Given the description of an element on the screen output the (x, y) to click on. 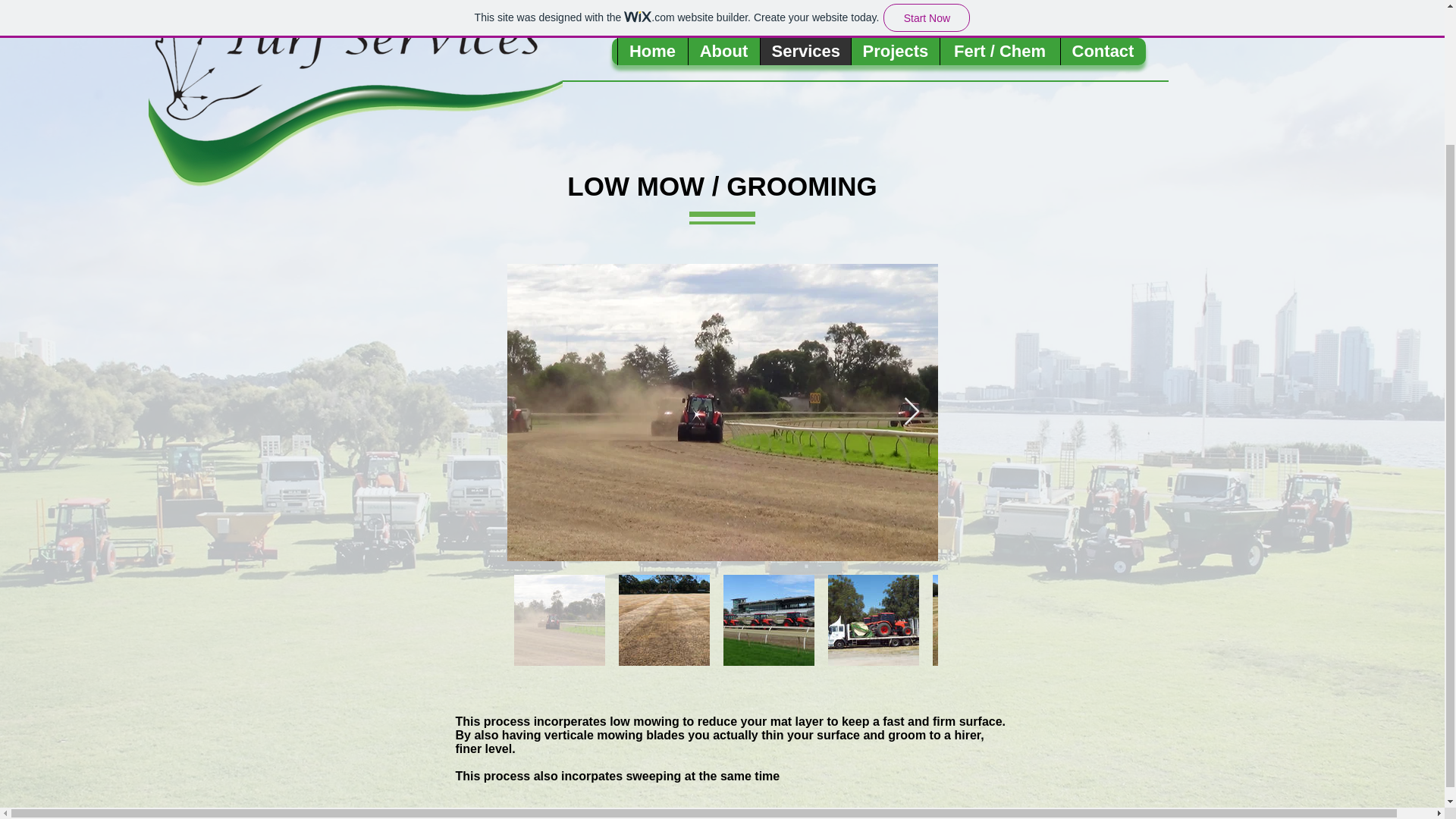
Home (652, 51)
Services (805, 51)
Contact (1102, 51)
About (722, 51)
Projects (894, 51)
